Given the description of an element on the screen output the (x, y) to click on. 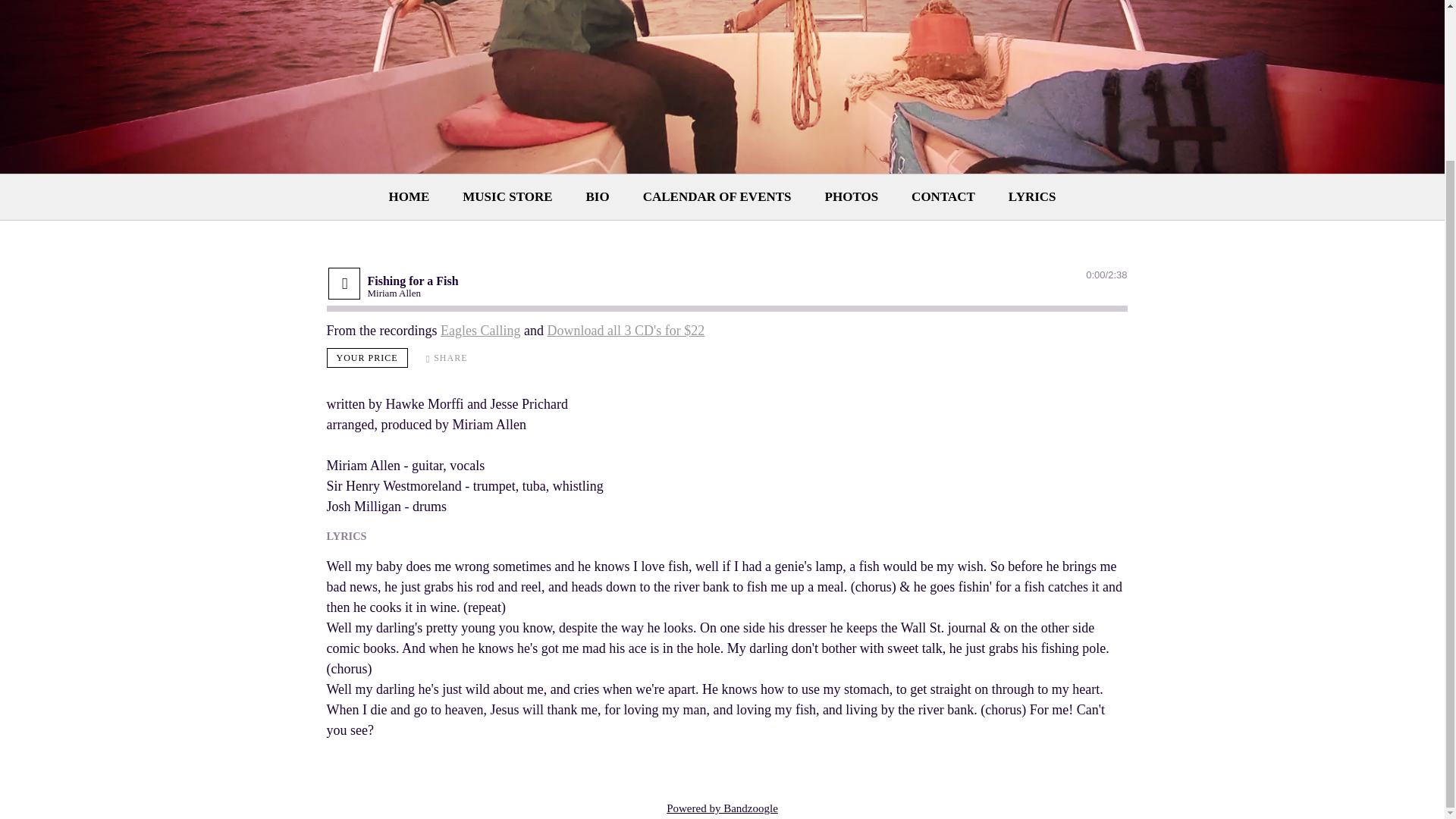
Powered by Bandzoogle (721, 808)
MUSIC STORE (506, 197)
BIO (598, 197)
Share Fishing for a Fish (446, 357)
Eagles Calling (480, 329)
SHARE (446, 357)
MIRIAM ALLEN (1072, 1)
Powered by Bandzoogle (721, 808)
CONTACT (943, 197)
YOUR PRICE (366, 358)
